Given the description of an element on the screen output the (x, y) to click on. 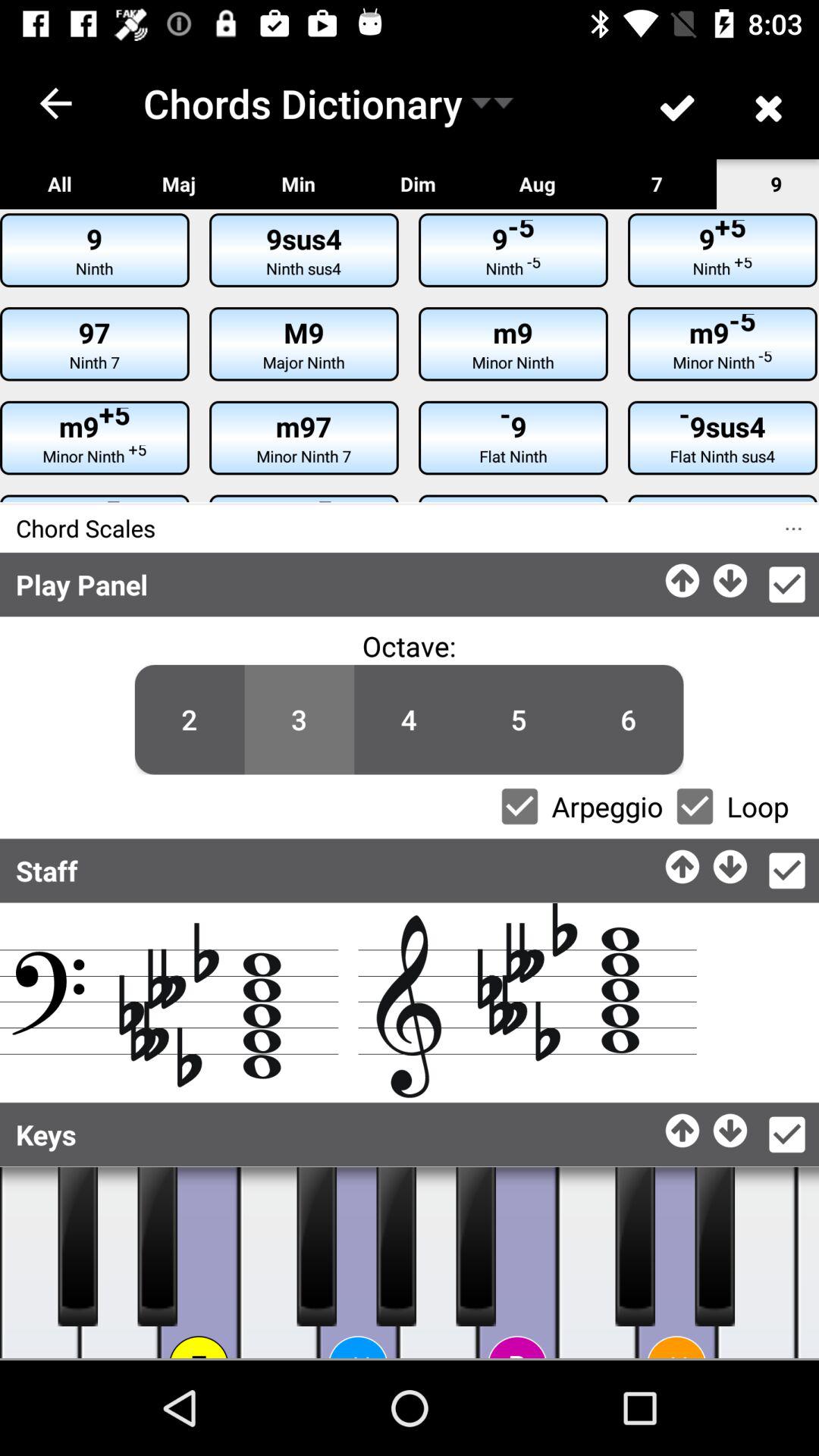
one of piano keys (597, 1262)
